Given the description of an element on the screen output the (x, y) to click on. 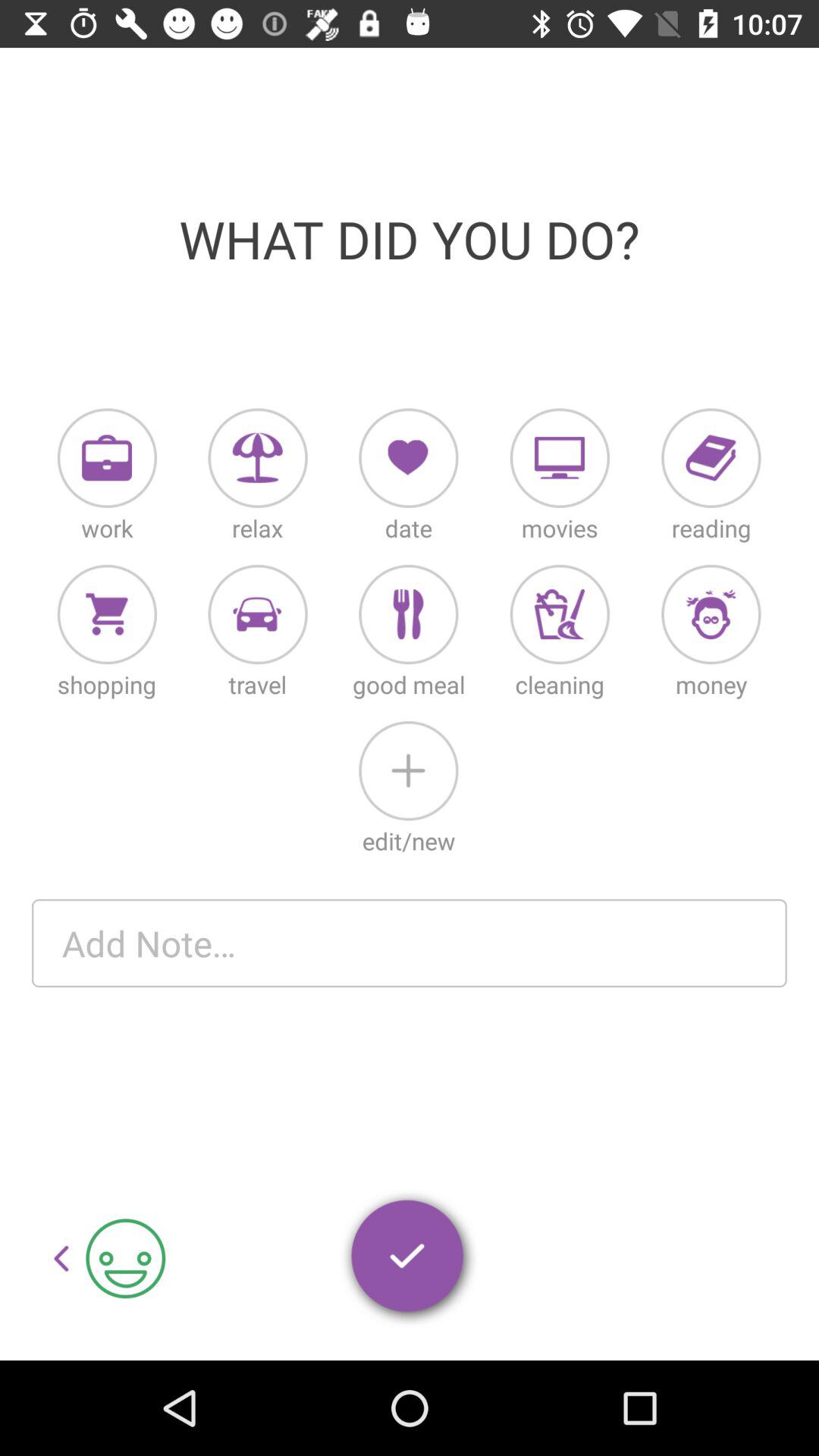
go to date (408, 457)
